Given the description of an element on the screen output the (x, y) to click on. 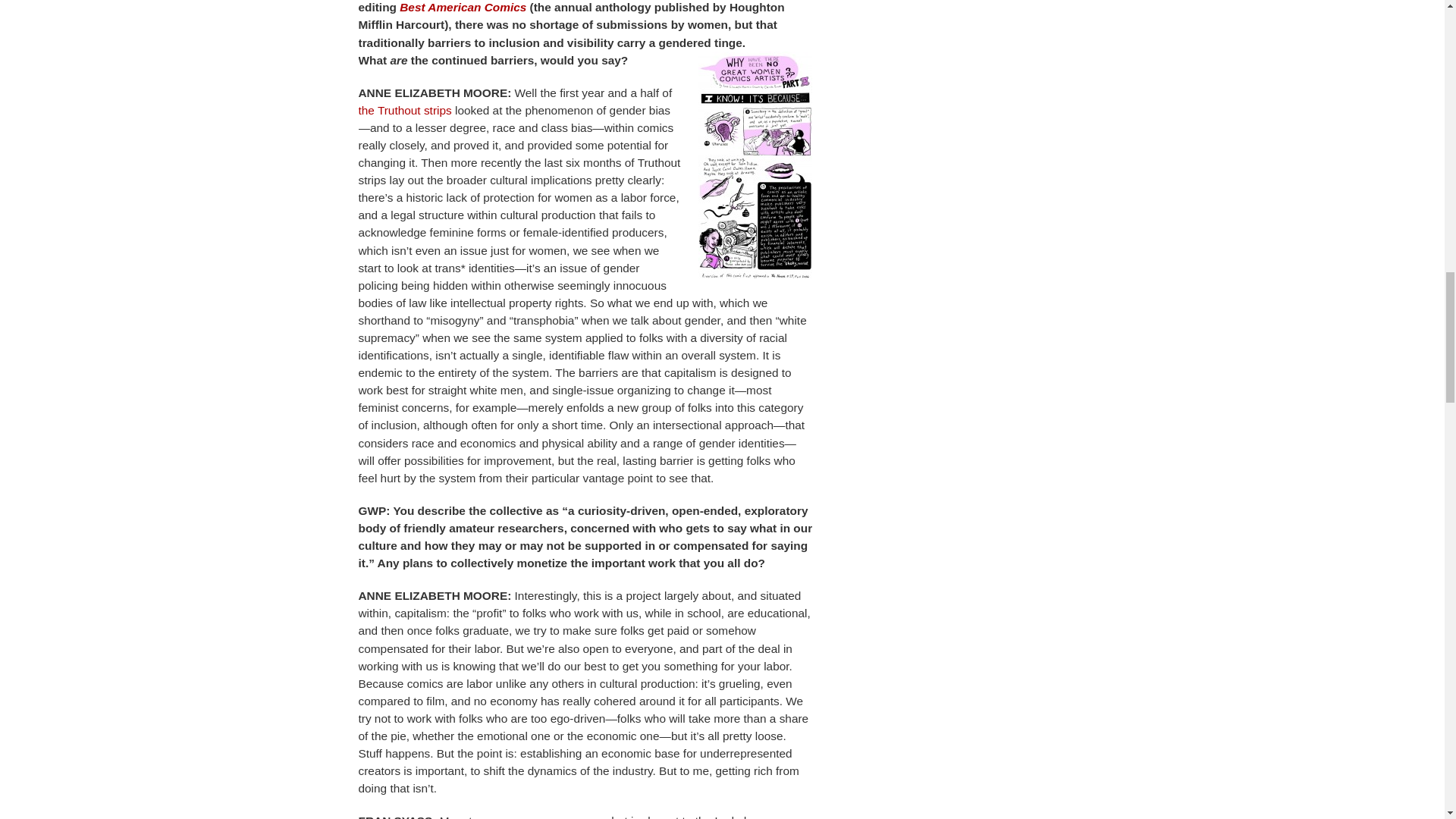
Best American Comics  (463, 6)
the Truthout strips (404, 110)
